Given the description of an element on the screen output the (x, y) to click on. 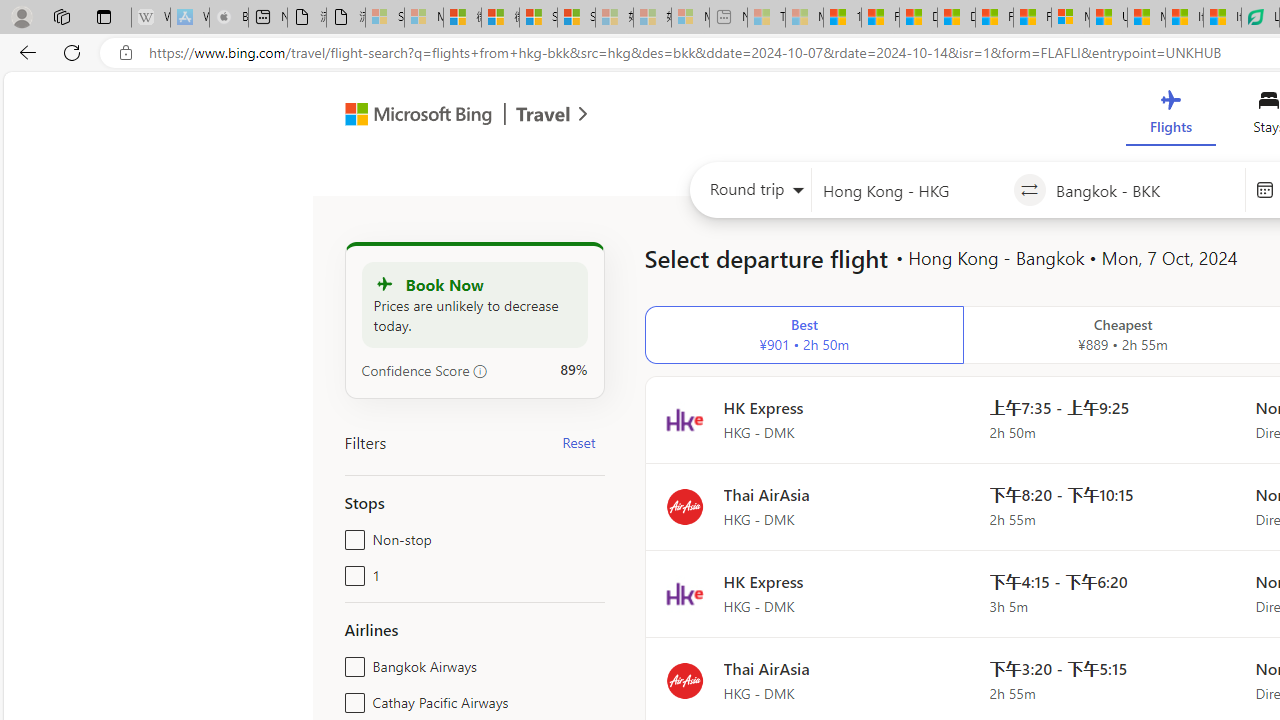
Flights (1170, 116)
Reset (578, 442)
Leaving from? (912, 190)
Microsoft account | Account Checkup - Sleeping (690, 17)
Sign in to your Microsoft account - Sleeping (385, 17)
Foo BAR | Trusted Community Engagement and Contributions (1031, 17)
Non-stop (351, 535)
Top Stories - MSN - Sleeping (765, 17)
Cathay Pacific Airways (351, 698)
Select trip type (750, 193)
Info tooltip (480, 371)
